Given the description of an element on the screen output the (x, y) to click on. 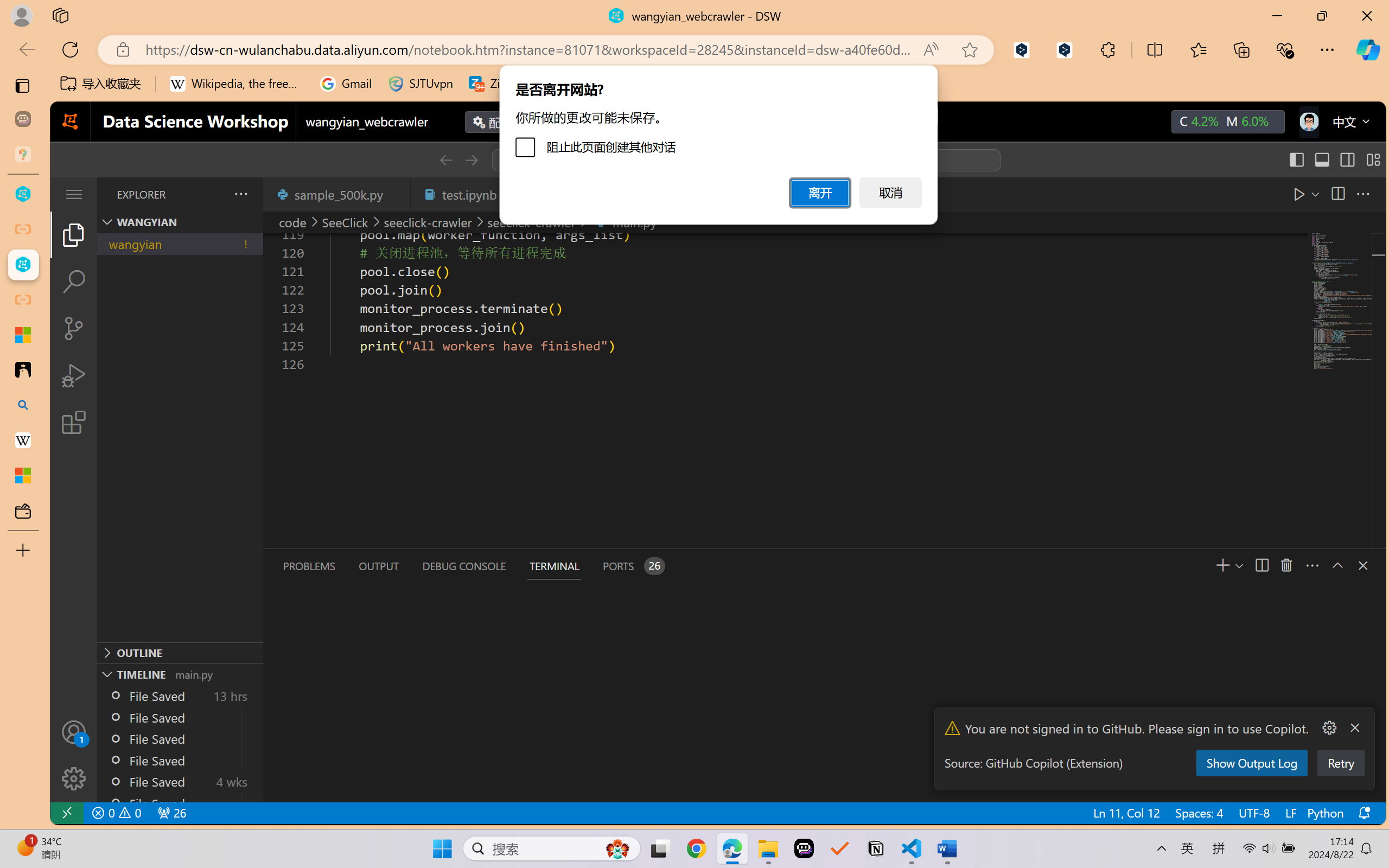
Launch Profile... (1288, 565)
Run or Debug... (1288, 193)
Output (Ctrl+Shift+U) (377, 565)
Class: next-menu next-hoz widgets--iconMenu--BFkiHRM (1308, 121)
Search (Ctrl+Shift+F) (73, 281)
Explorer Section: wangyian (179, 221)
Accounts - Sign in requested (73, 732)
